Given the description of an element on the screen output the (x, y) to click on. 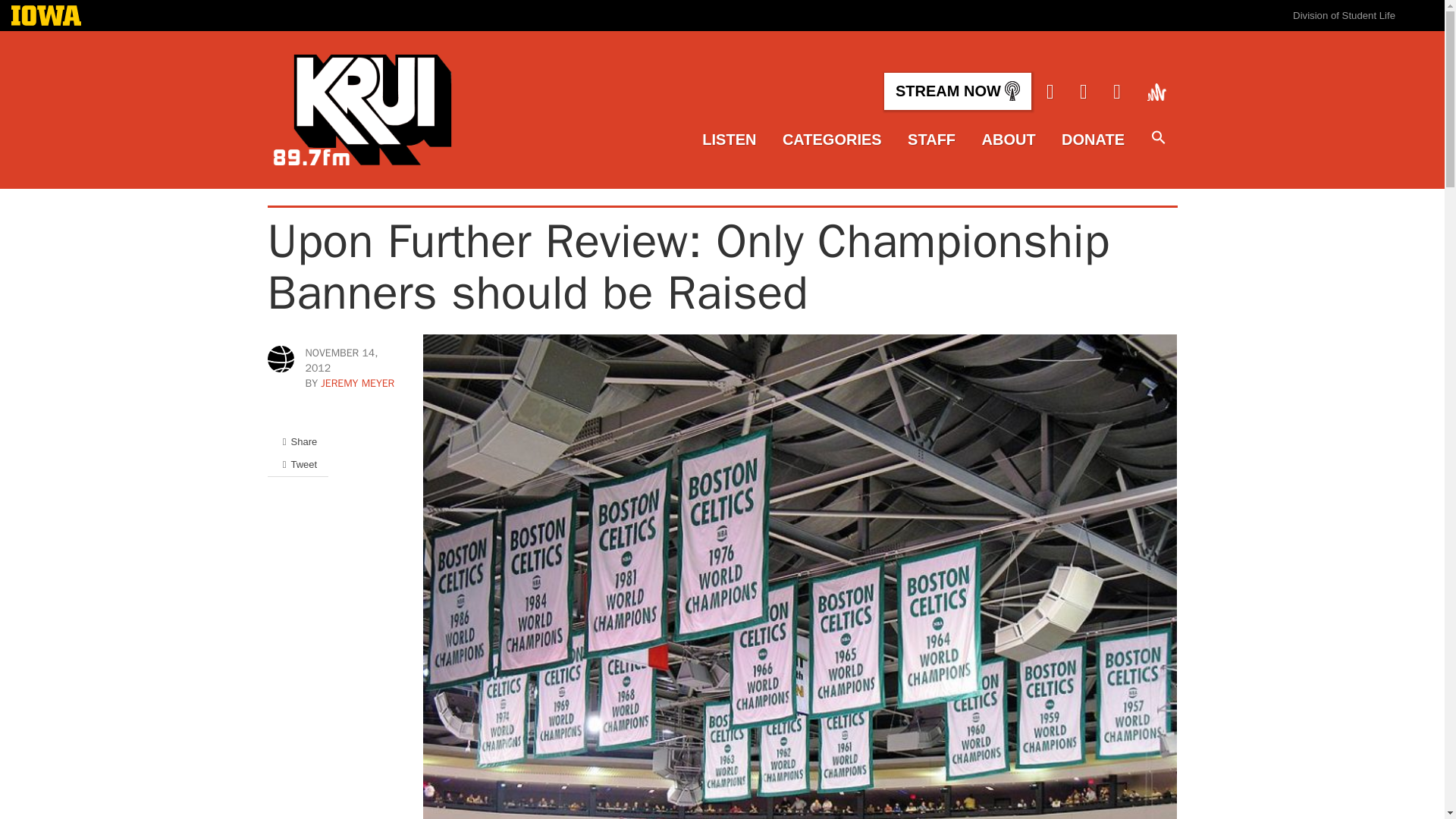
STAFF (931, 139)
Share on Facebook (296, 441)
ABOUT (1008, 139)
Division of Student Life (1343, 15)
STREAM NOW (956, 90)
LISTEN (728, 139)
Share on Twitter (296, 463)
CATEGORIES (832, 139)
The University of Iowa (46, 16)
